Given the description of an element on the screen output the (x, y) to click on. 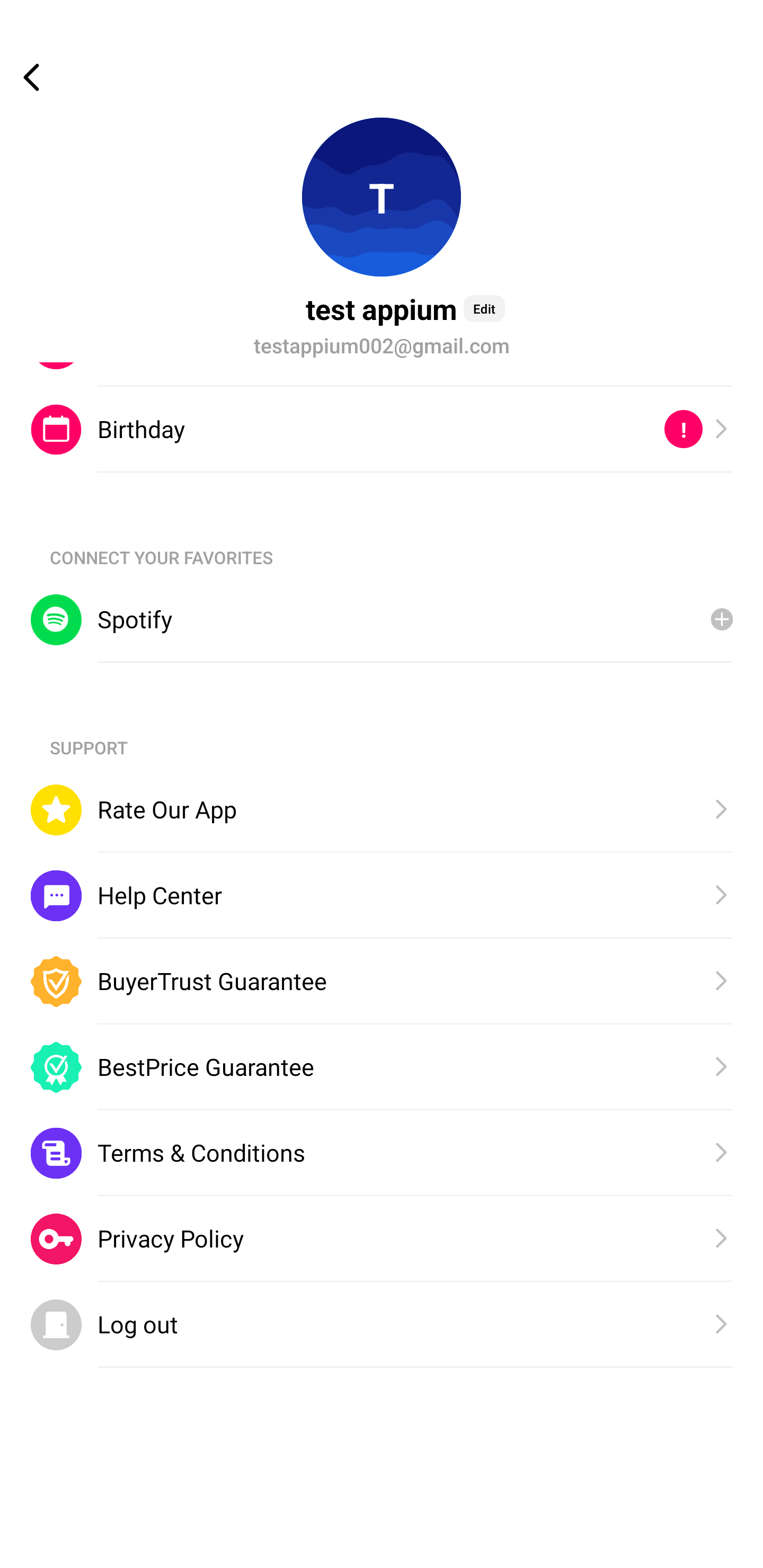
T (381, 196)
Edit (484, 307)
Birthday,   , ! Birthday    ! (381, 429)
Spotify,    Spotify    (381, 620)
Rate Our App,    Rate Our App    (381, 809)
Help Center,    Help Center    (381, 895)
BuyerTrust Guarantee,    BuyerTrust Guarantee    (381, 981)
BestPrice Guarantee,    BestPrice Guarantee    (381, 1066)
Terms & Conditions,    Terms & Conditions    (381, 1153)
Privacy Policy,    Privacy Policy    (381, 1239)
Log out,    Log out    (381, 1324)
